Given the description of an element on the screen output the (x, y) to click on. 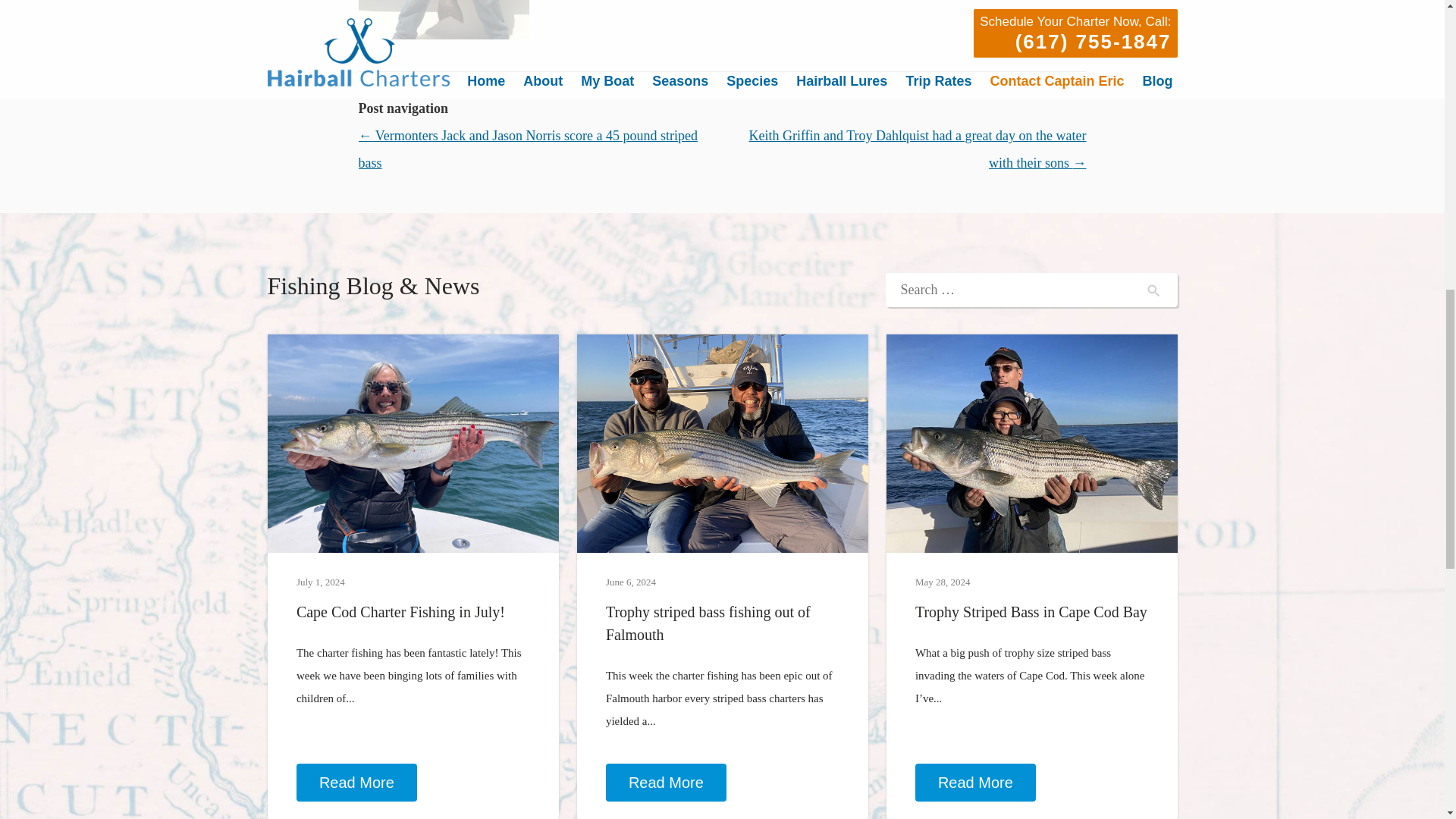
Search for: (1031, 289)
Search (1153, 289)
jason Norris and his 46 pound striped bass (443, 19)
Search (1153, 289)
